Given the description of an element on the screen output the (x, y) to click on. 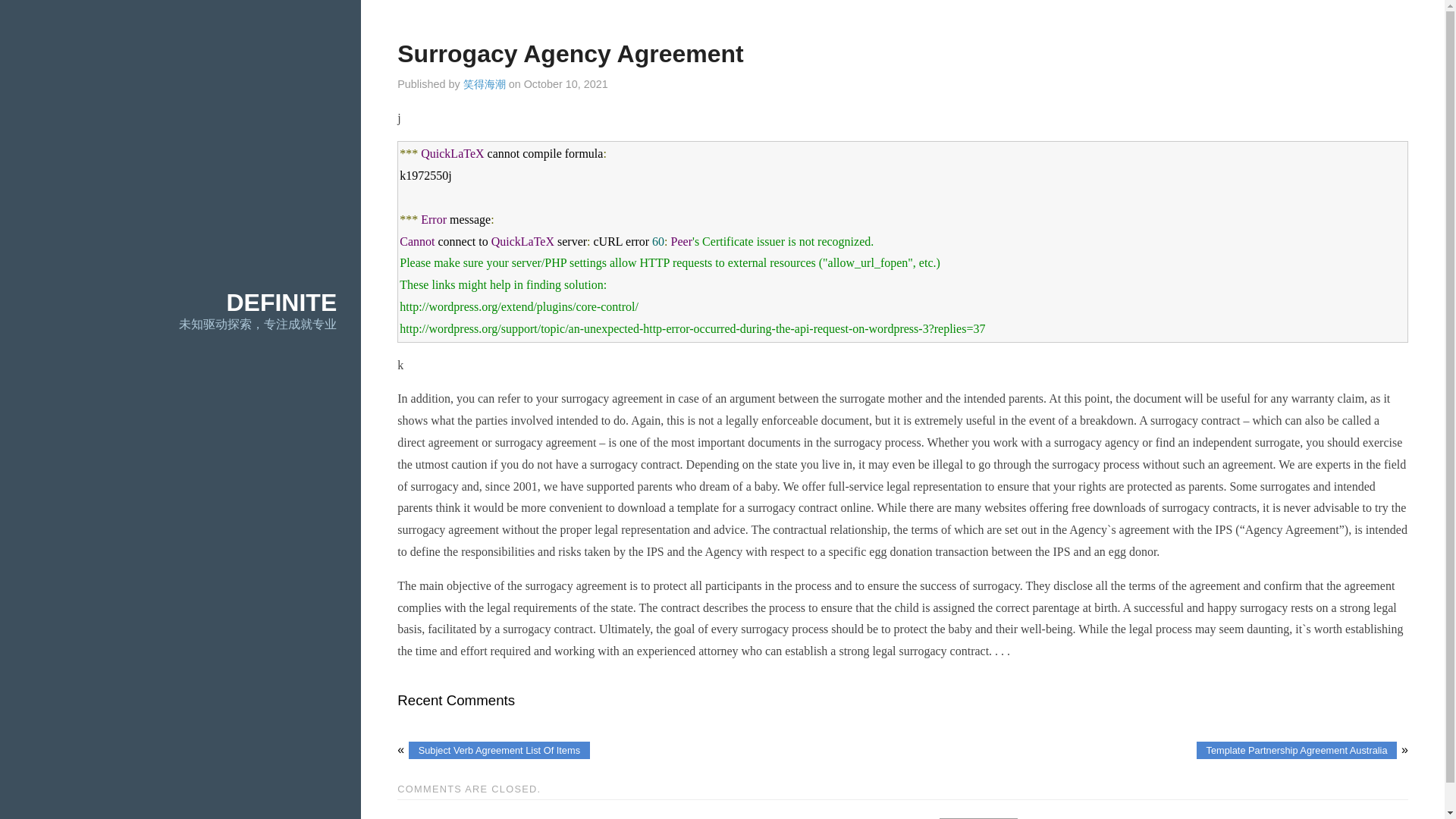
Template Partnership Agreement Australia (1296, 750)
DEFINITE (280, 302)
Subject Verb Agreement List Of Items (499, 750)
